Given the description of an element on the screen output the (x, y) to click on. 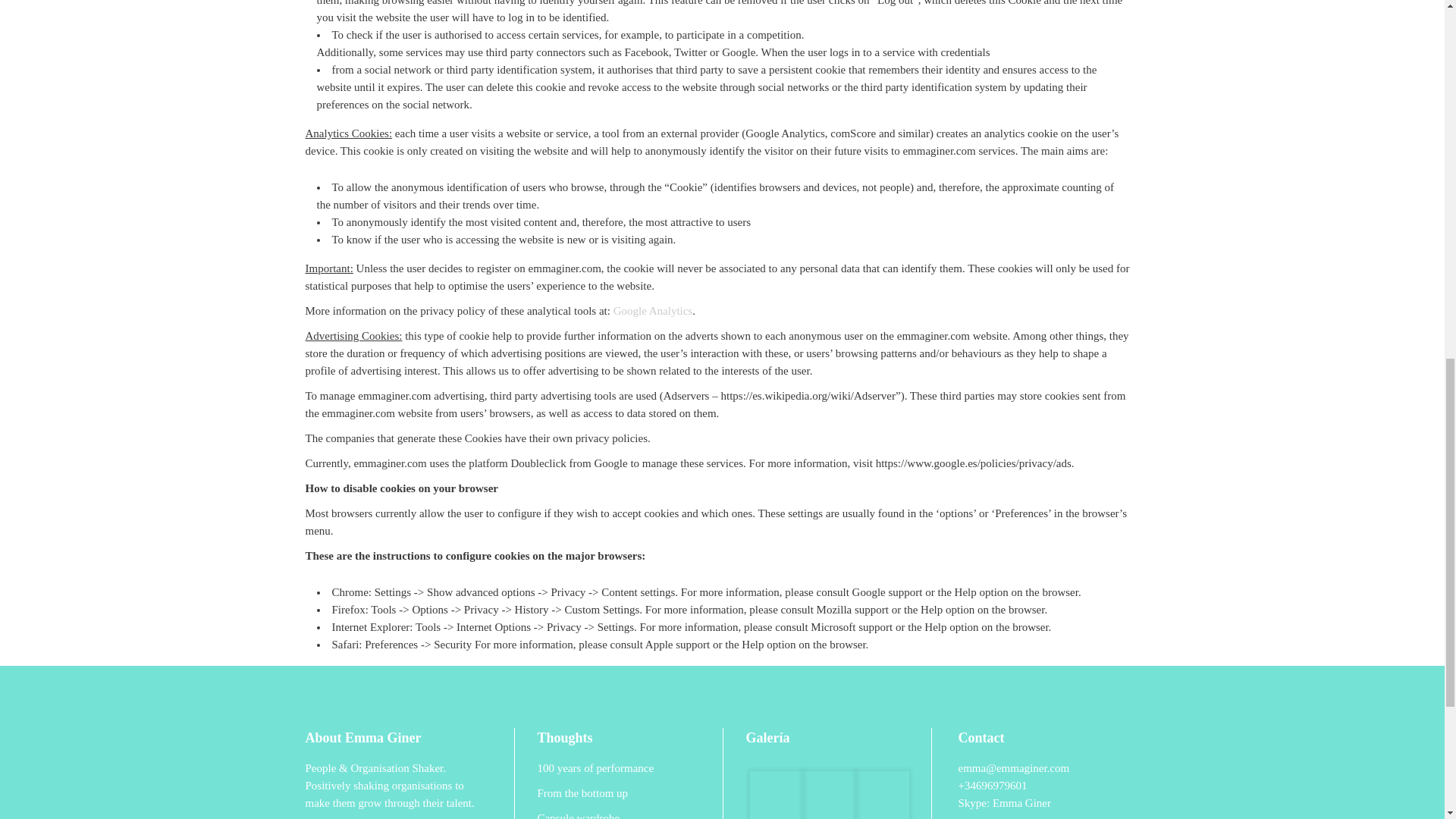
From the bottom up (617, 793)
100 years of performance (617, 768)
Google Analytics (652, 310)
Capsule wardrobe (617, 814)
